Given the description of an element on the screen output the (x, y) to click on. 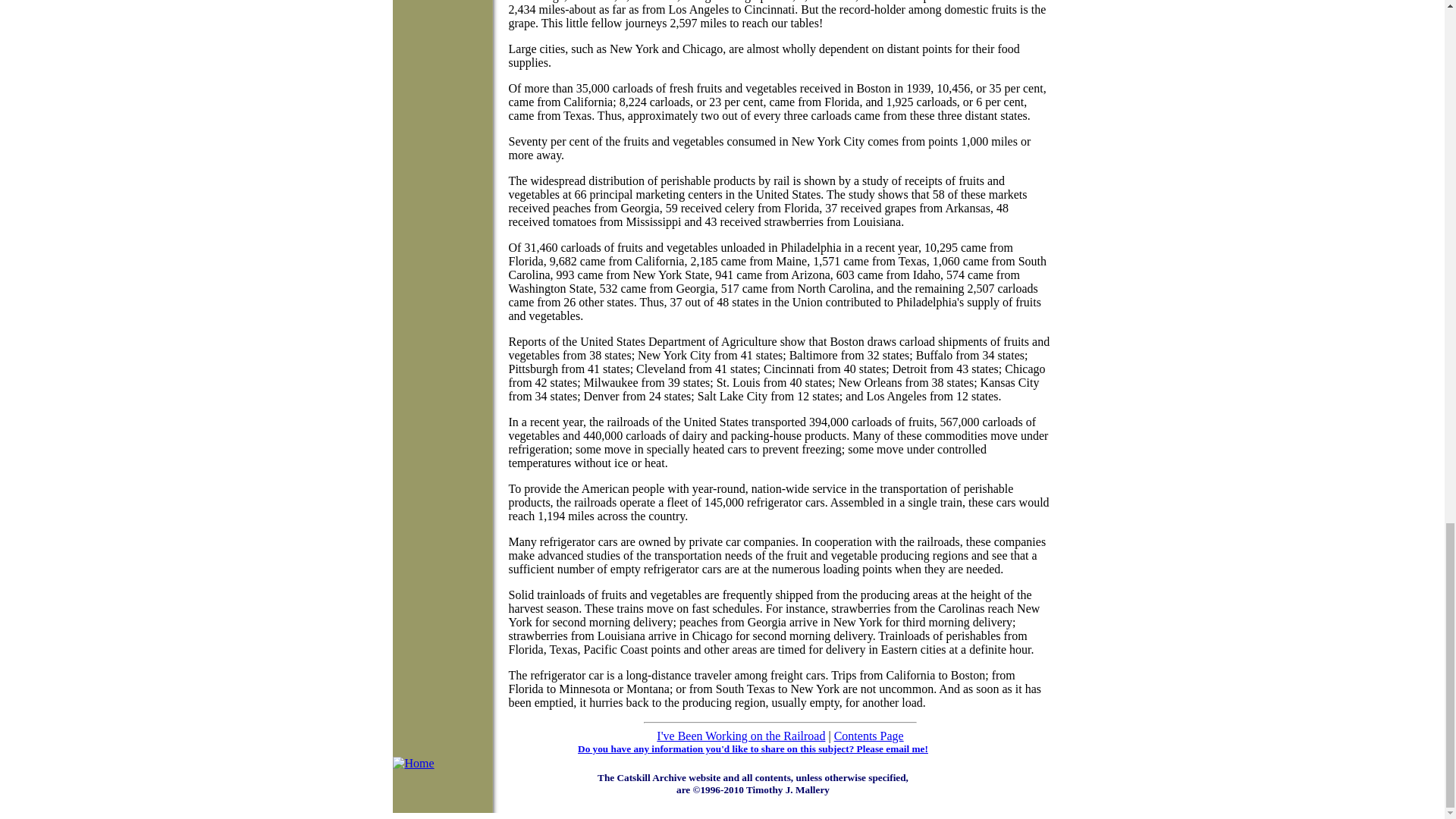
Contents Page (869, 735)
I've Been Working on the Railroad (740, 735)
